Given the description of an element on the screen output the (x, y) to click on. 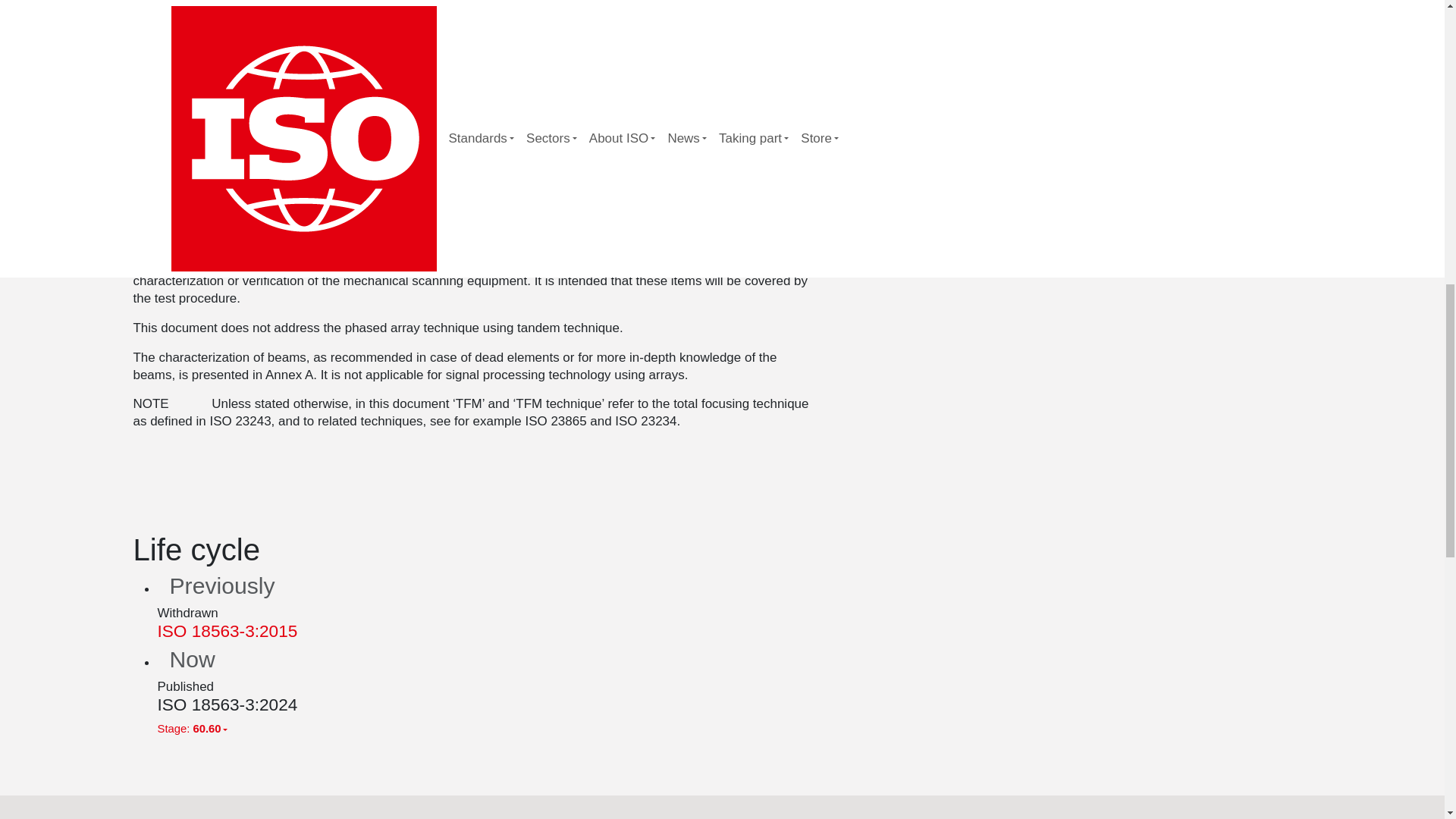
Non-destructive testing (977, 243)
RSS (973, 260)
Ultrasonic testing (1008, 208)
60.60 (1173, 104)
ISO 18563-3:2015 (227, 630)
19.100 (977, 243)
60.60 (1173, 104)
